Given the description of an element on the screen output the (x, y) to click on. 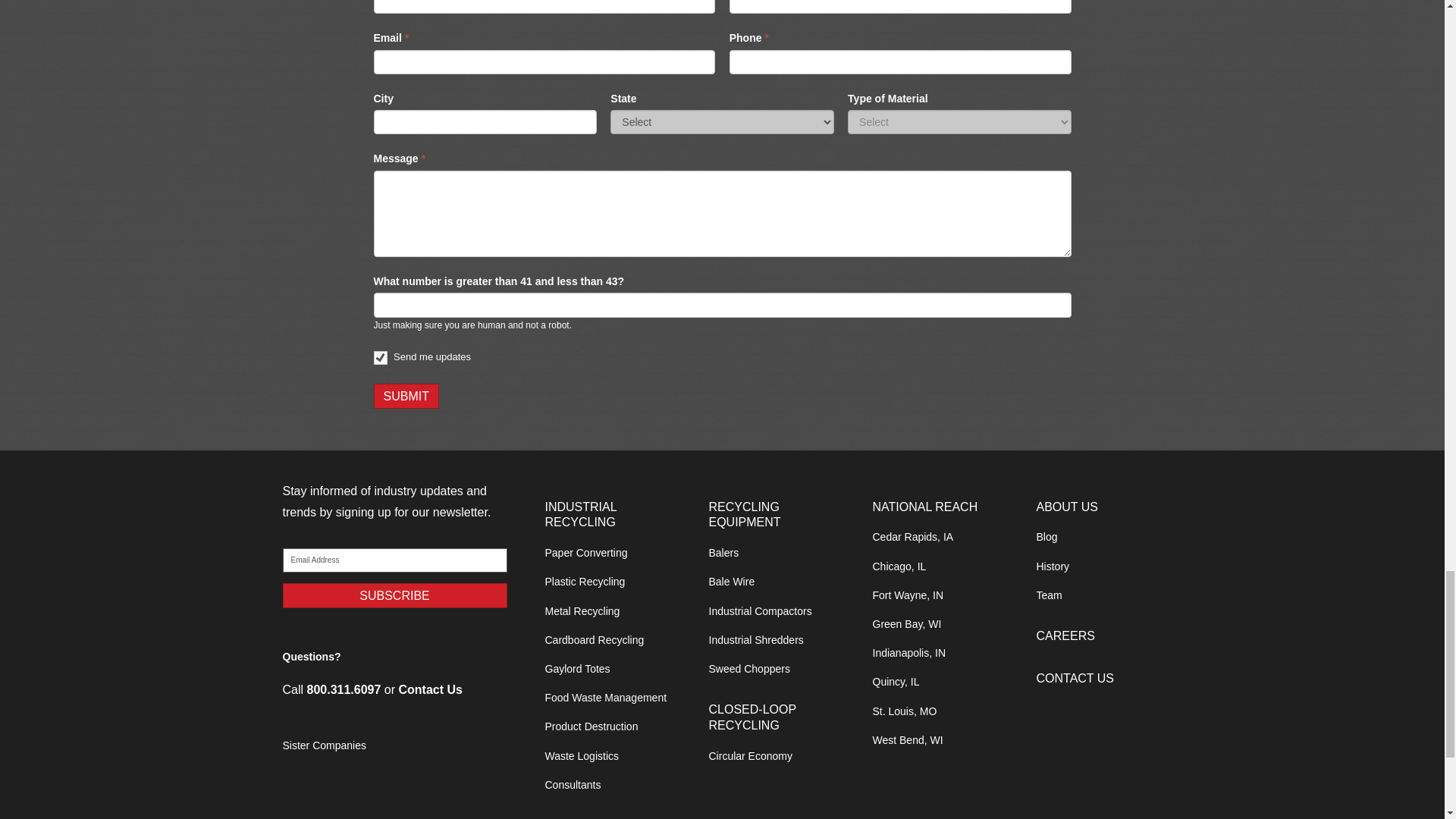
Call 8003116097 via 3CX (344, 689)
Quincy-Farm-Products-Logo (394, 801)
Send me updates (379, 356)
